Given the description of an element on the screen output the (x, y) to click on. 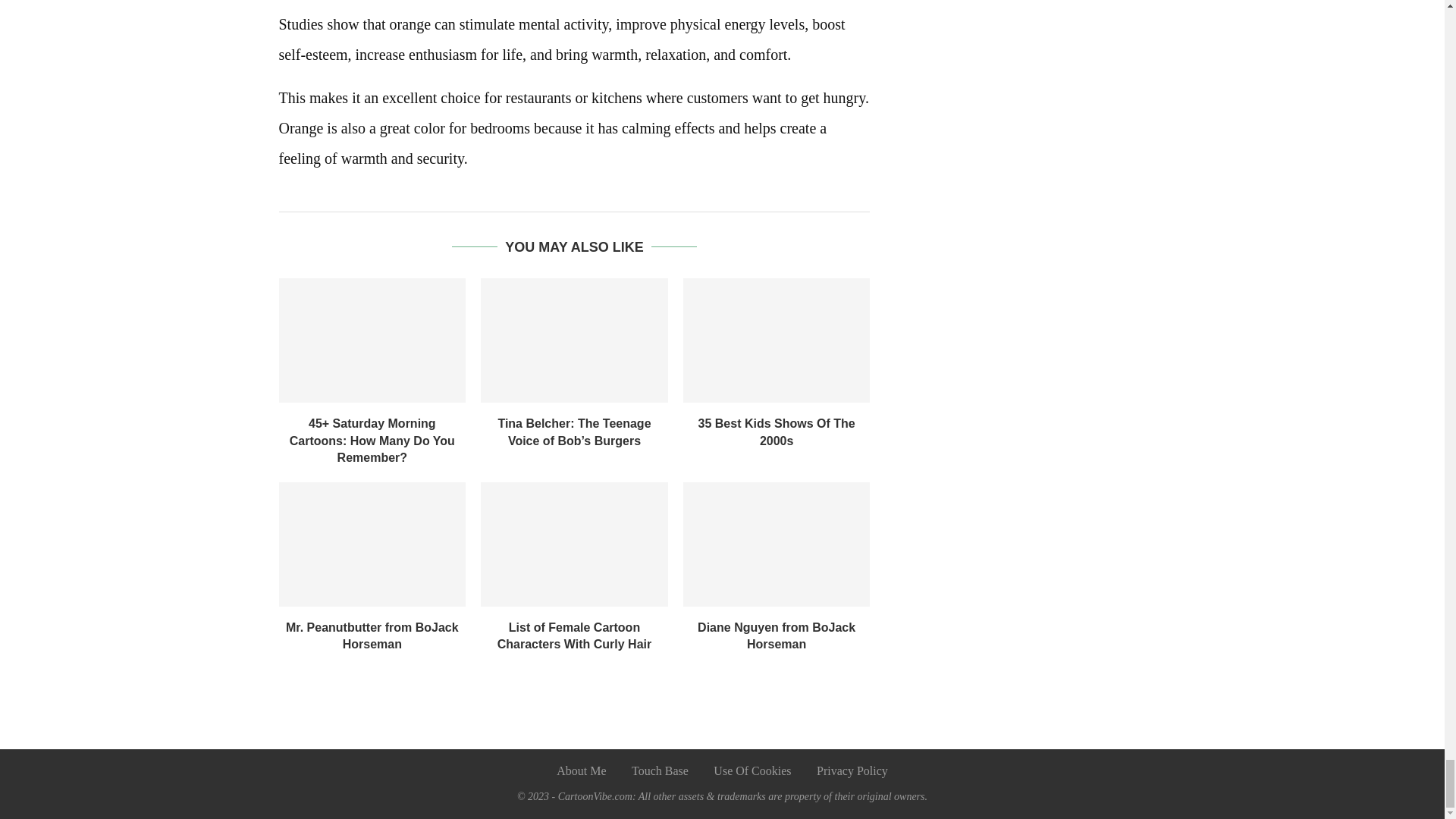
35 Best Kids Shows Of The 2000s (777, 431)
35 Best Kids Shows Of The 2000s (776, 340)
Mr. Peanutbutter from BoJack Horseman (371, 635)
Diane Nguyen from BoJack Horseman (776, 544)
List of Female Cartoon Characters With Curly Hair (574, 544)
Mr. Peanutbutter from BoJack Horseman (372, 544)
List of Female Cartoon Characters With Curly Hair (573, 635)
